Given the description of an element on the screen output the (x, y) to click on. 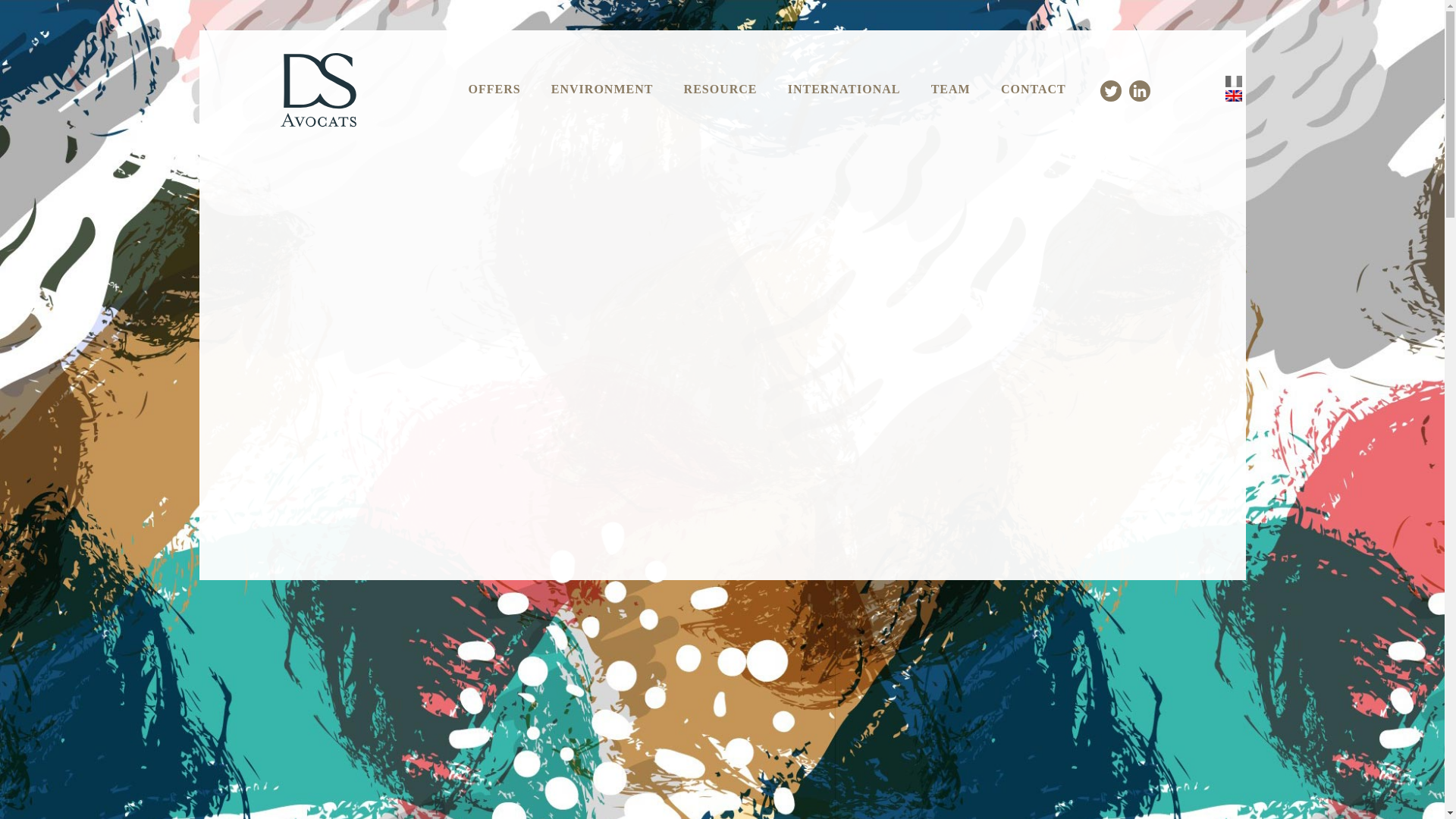
RESOURCE (720, 88)
ENVIRONMENT (602, 88)
CONTACT (1033, 88)
OFFERS (493, 88)
INTERNATIONAL (844, 88)
TEAM (951, 88)
